Given the description of an element on the screen output the (x, y) to click on. 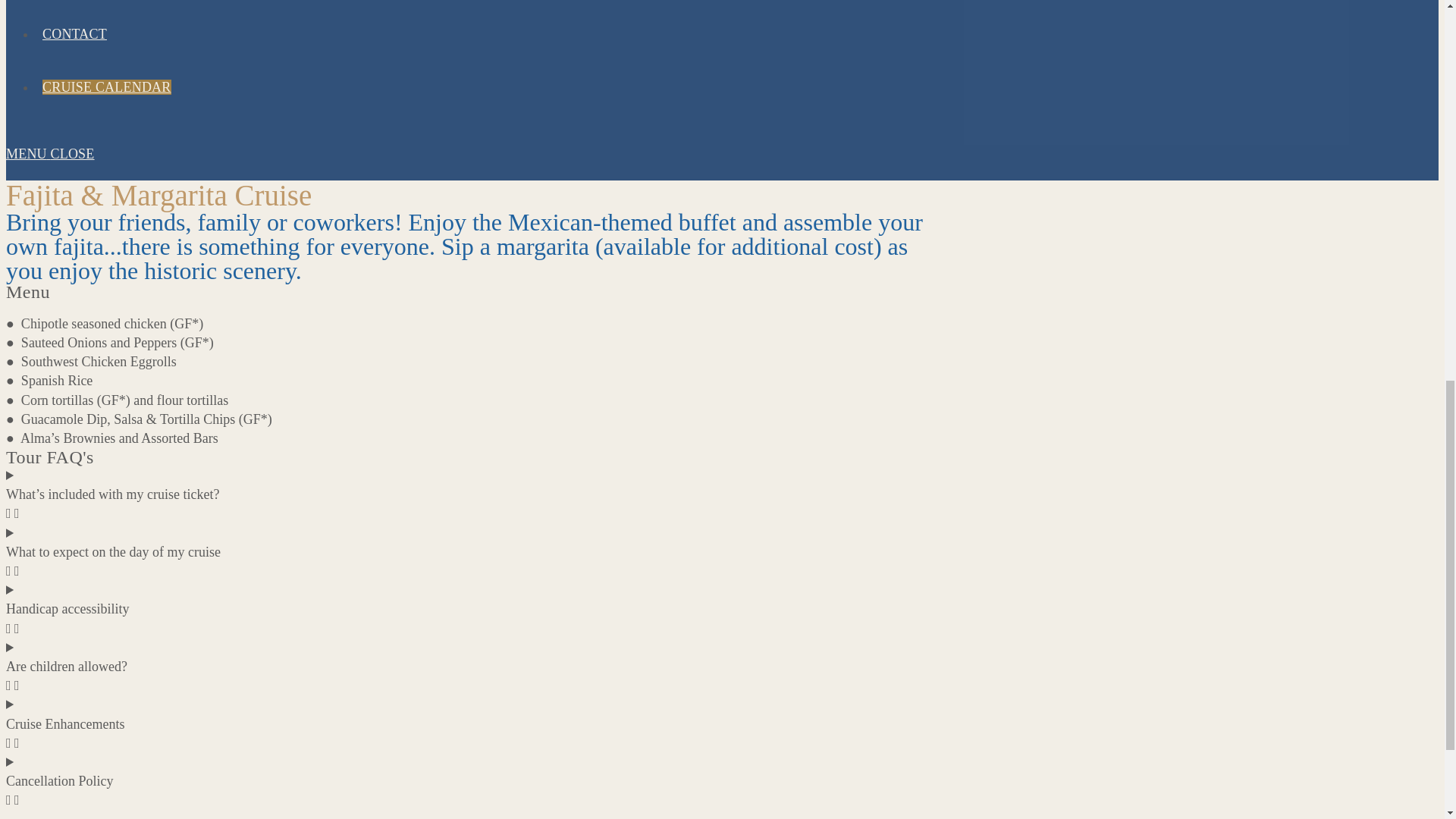
CRUISE CALENDAR (106, 87)
MENU CLOSE (475, 163)
CONTACT (74, 33)
